Given the description of an element on the screen output the (x, y) to click on. 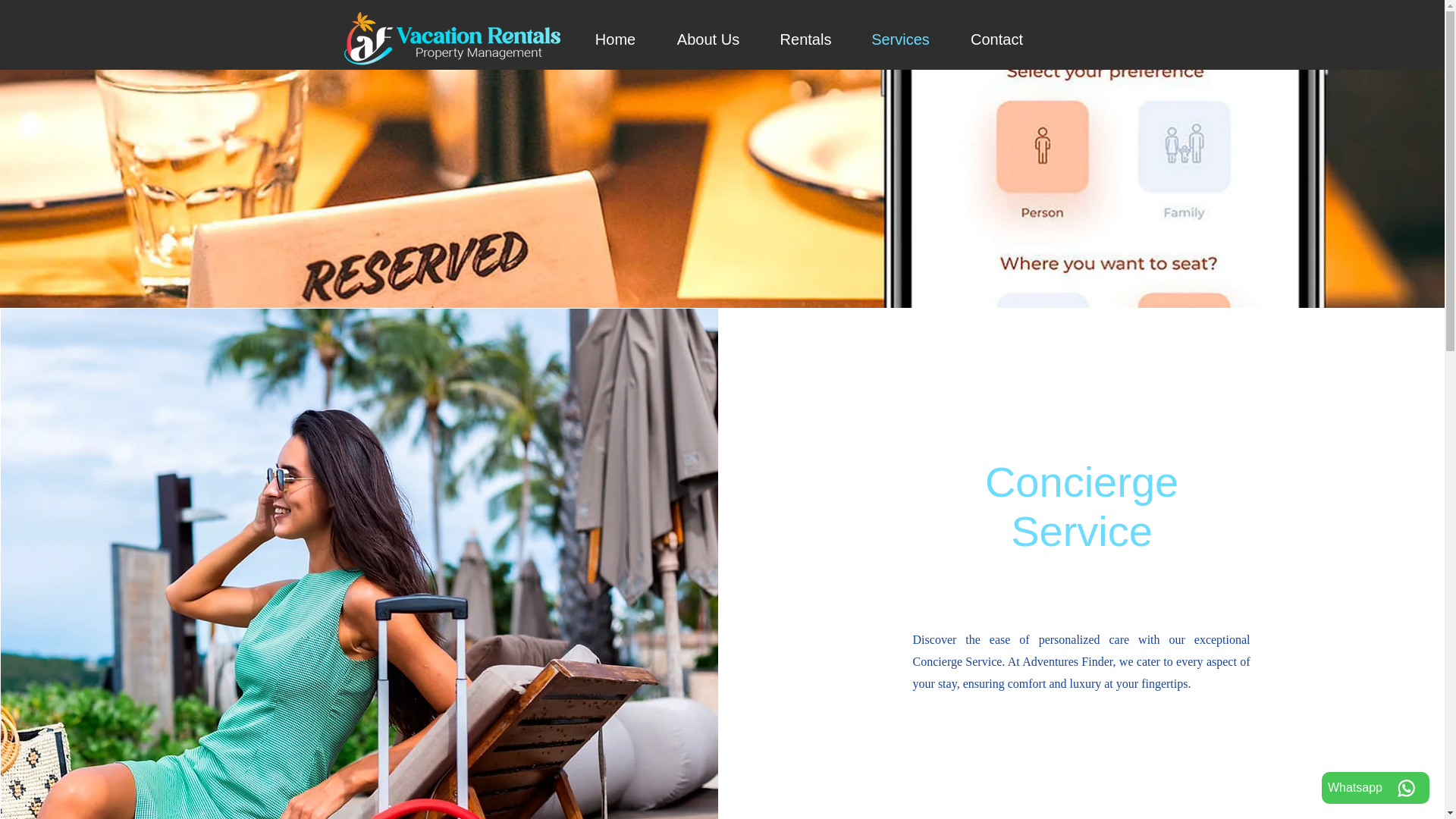
Home (615, 39)
About Us (708, 39)
Services (899, 39)
Contact (996, 39)
Whatsapp (1375, 787)
